Given the description of an element on the screen output the (x, y) to click on. 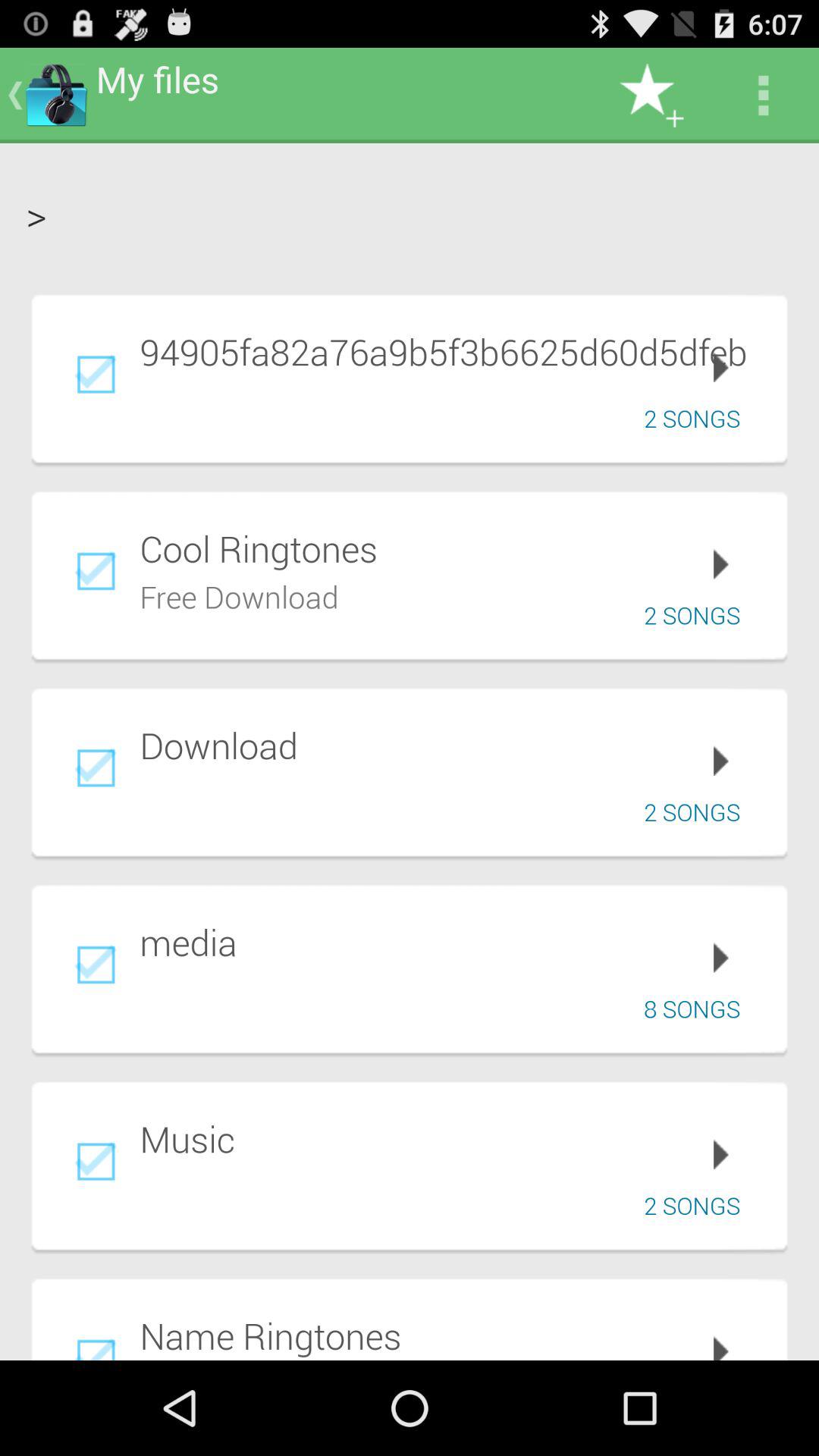
tap app below the > app (452, 351)
